Given the description of an element on the screen output the (x, y) to click on. 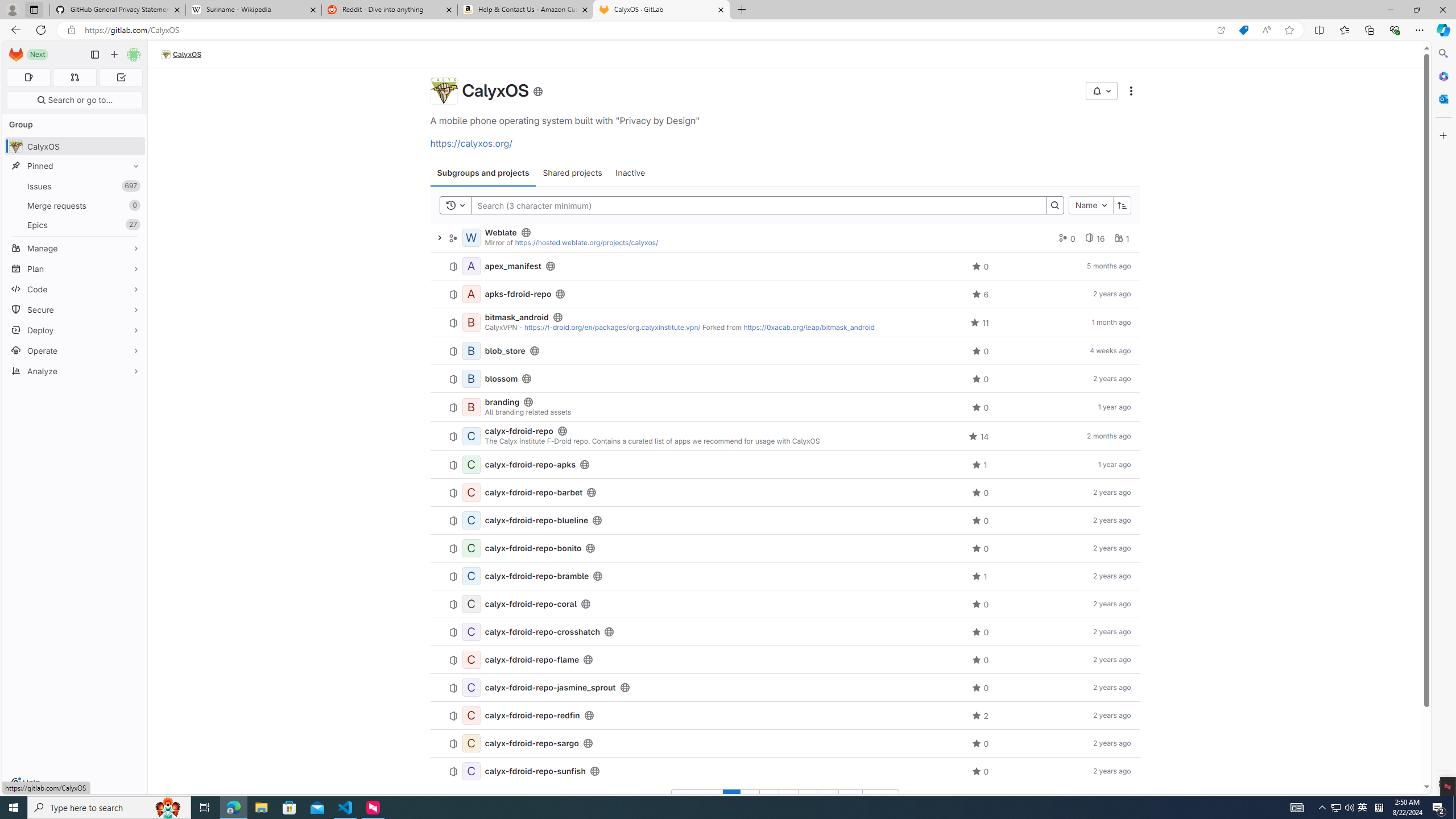
Aapex_manifest05 months ago (784, 266)
Code (74, 289)
Inactive (630, 172)
Go to page 2 (749, 799)
blob_store (504, 350)
Ccalyx-fdroid-repo-jasmine_sprout02 years ago (784, 687)
apex_manifest (512, 266)
Suriname - Wikipedia (253, 9)
https://f-droid.org/en/packages/org.calyxinstitute.vpn/ (612, 326)
